Given the description of an element on the screen output the (x, y) to click on. 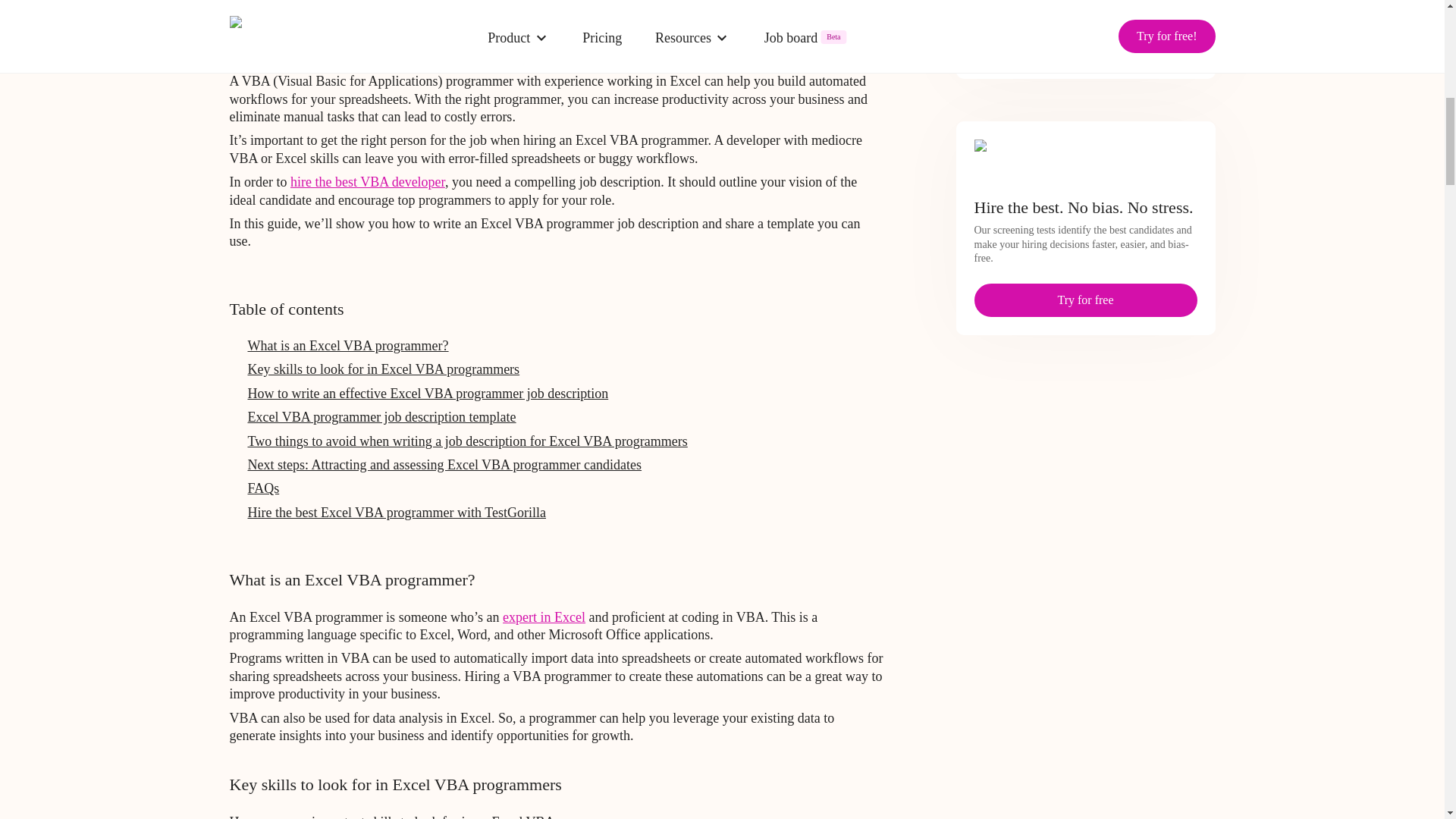
hire the best VBA developer (367, 181)
Hire the best Excel VBA programmer with TestGorilla (396, 512)
FAQs (263, 488)
What is an Excel VBA programmer? (347, 345)
Excel VBA programmer job description template (381, 417)
Key skills to look for in Excel VBA programmers (383, 368)
expert in Excel (543, 616)
